Given the description of an element on the screen output the (x, y) to click on. 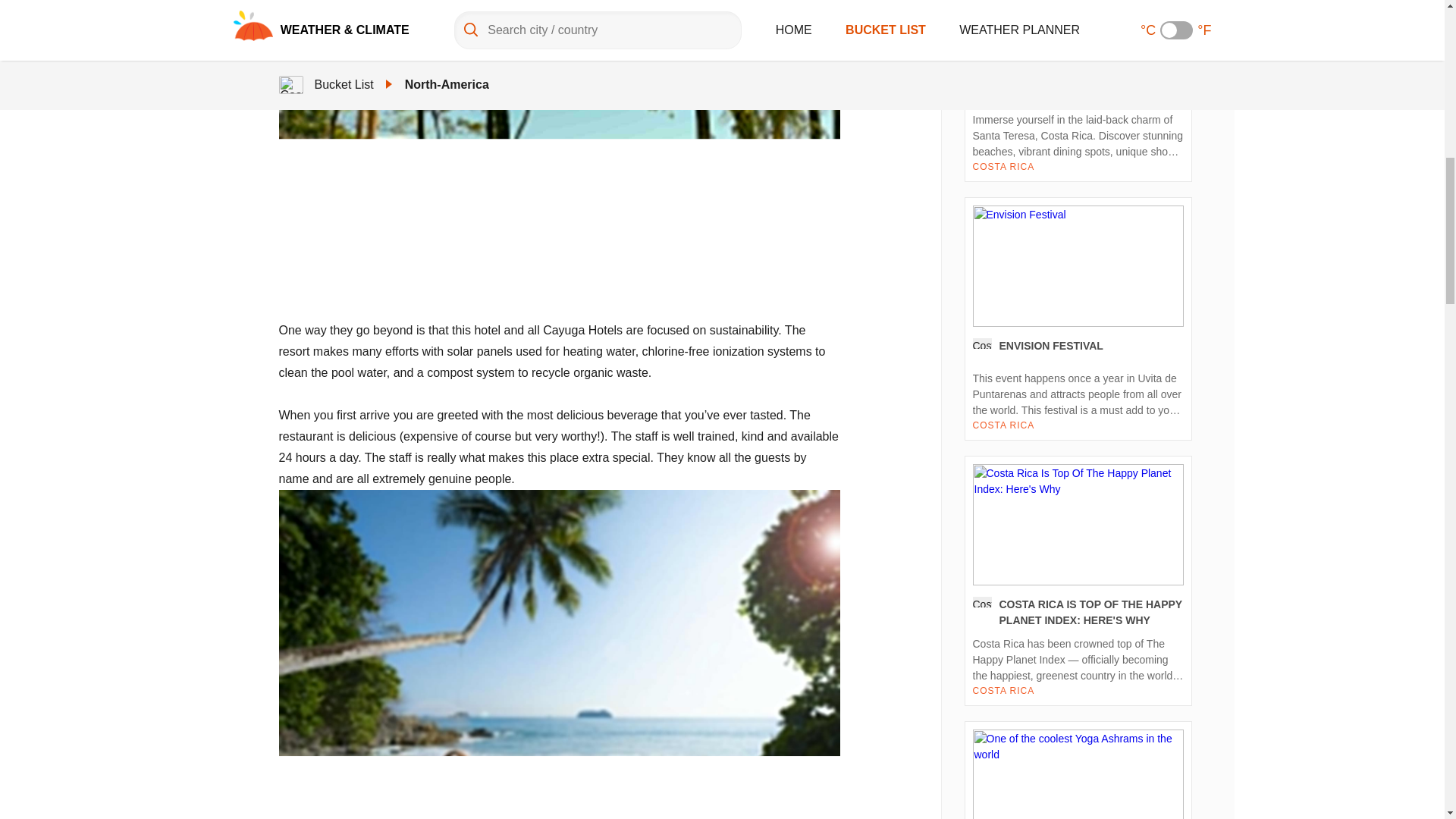
Envision Festival (1077, 318)
COSTA RICA (1002, 425)
COSTA RICA (1002, 690)
One of the coolest Yoga Ashrams in the world (1077, 770)
Exploring Santa Teresa, Costa Rica: A Traveler's Guide (1077, 90)
COSTA RICA (1002, 166)
Costa Rica Is Top Of The Happy Planet Index: Here's Why (1077, 580)
